Given the description of an element on the screen output the (x, y) to click on. 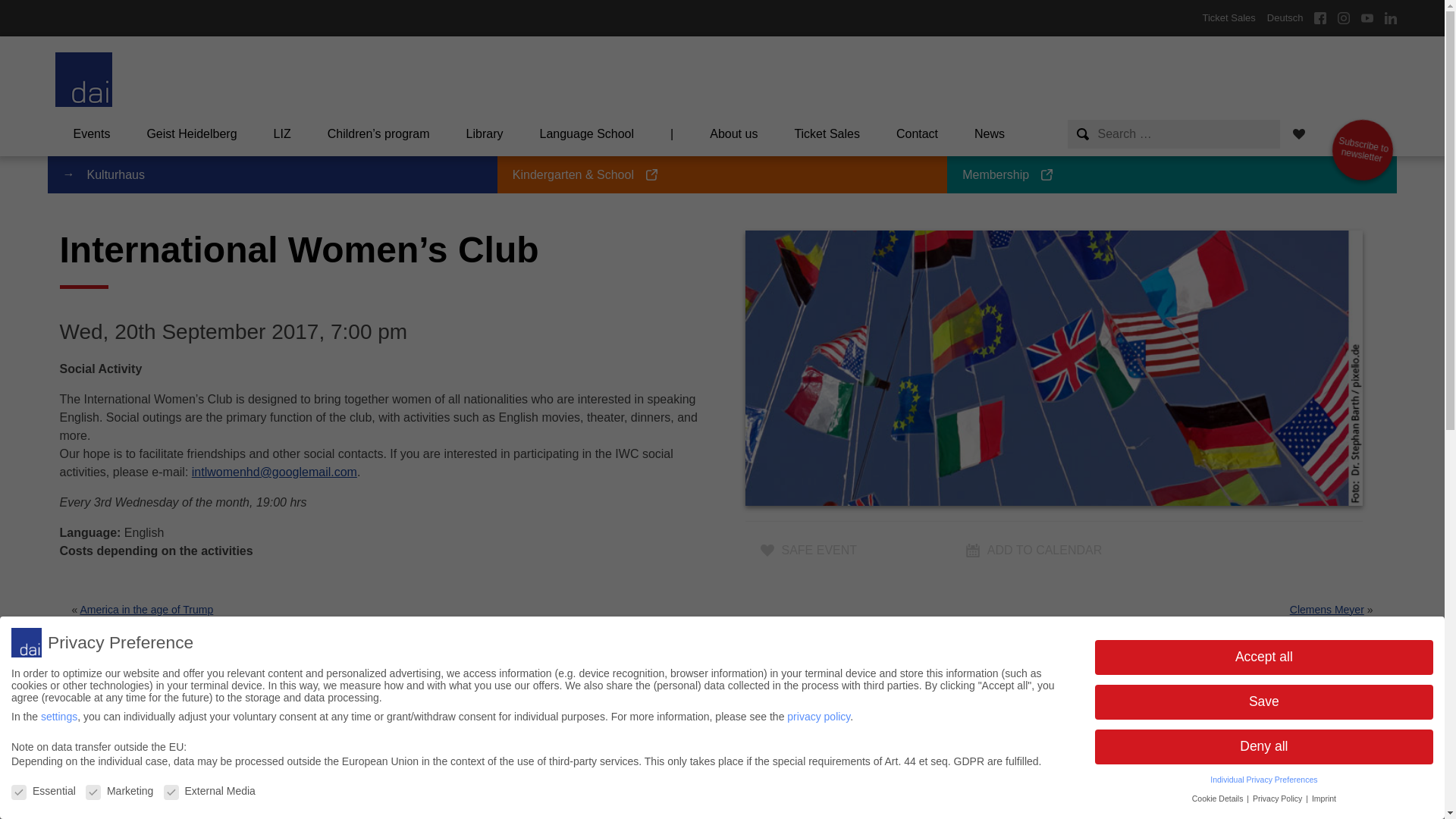
Geist Heidelberg (191, 133)
Contact (916, 133)
Read more (180, 770)
News (1356, 145)
Read more (989, 133)
Events (721, 770)
Subscribe to newsletter (91, 133)
Read more (1356, 145)
Ticket Sales (992, 770)
Search (1228, 18)
Language School (29, 12)
Read more (586, 133)
Ticket Sales (451, 770)
Read more (826, 133)
